Given the description of an element on the screen output the (x, y) to click on. 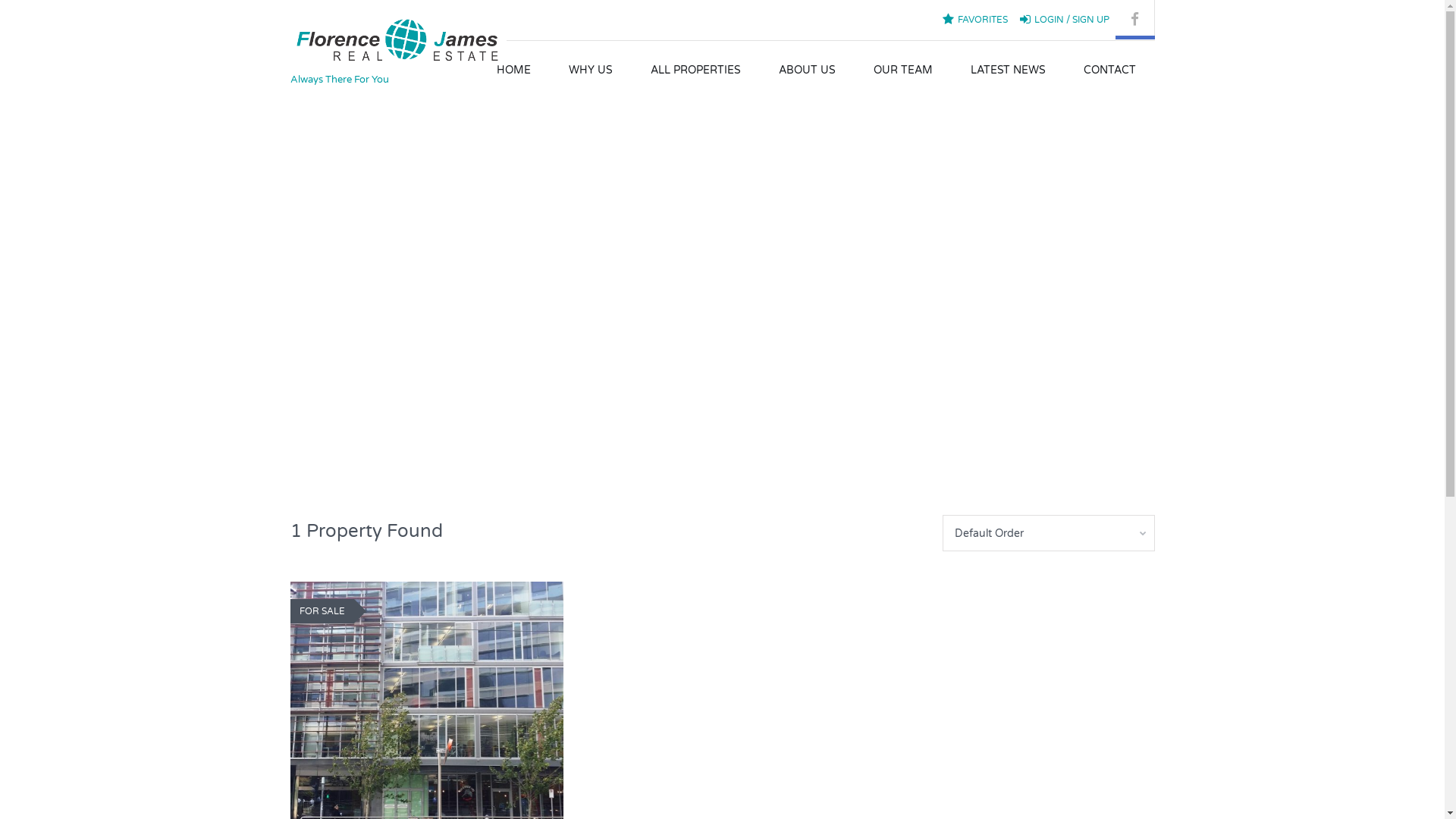
ALL PROPERTIES Element type: text (694, 70)
LATEST NEWS Element type: text (1006, 70)
OUR TEAM Element type: text (901, 70)
CONTACT Element type: text (1109, 70)
ABOUT US Element type: text (806, 70)
WHY US Element type: text (589, 70)
FOR SALE Element type: text (325, 610)
HOME Element type: text (513, 70)
LOGIN / SIGN UP Element type: text (1063, 20)
FAVORITES Element type: text (974, 20)
